Given the description of an element on the screen output the (x, y) to click on. 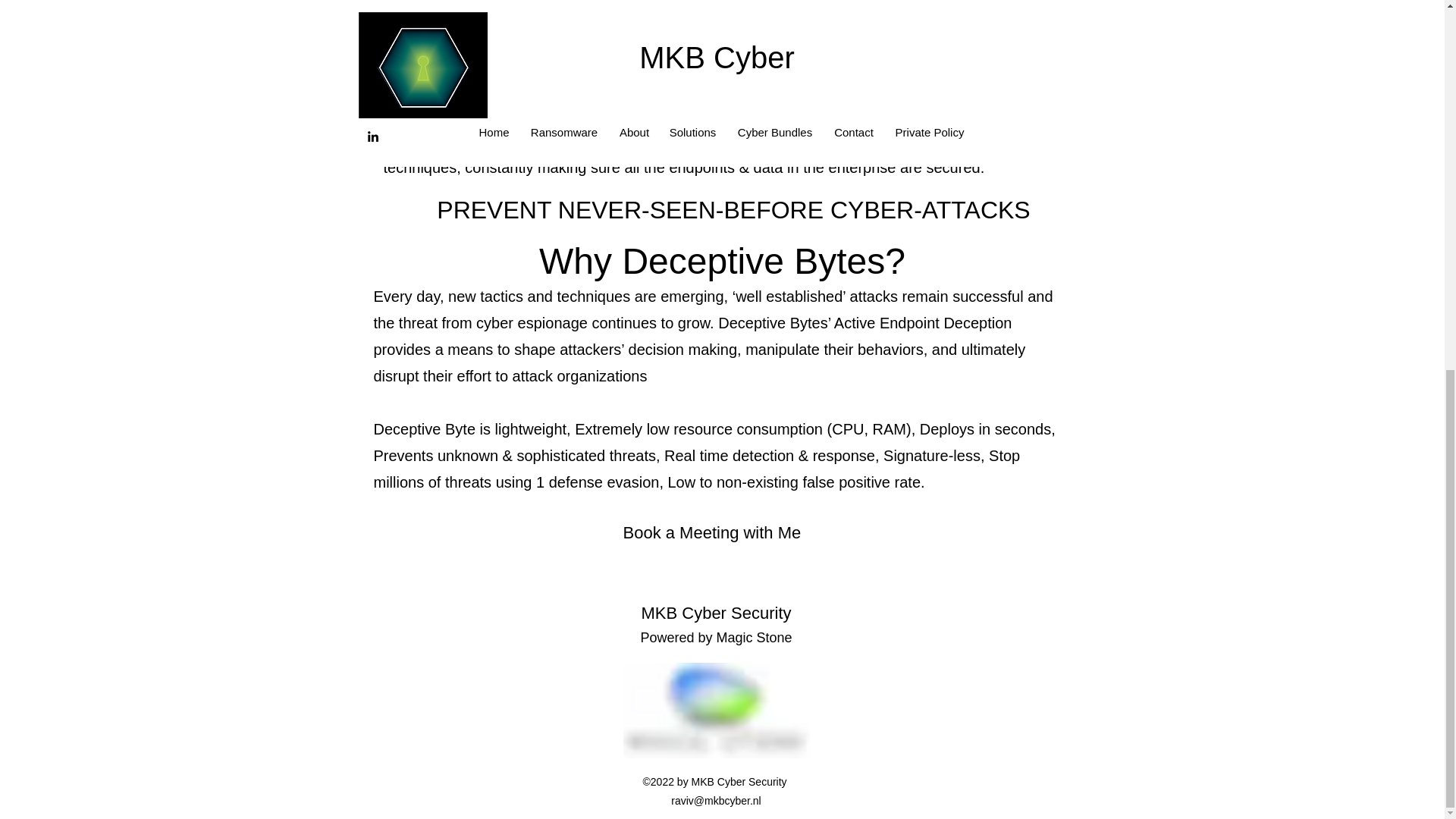
Book a Meeting with Me (712, 531)
Logo nagic stone.jpeg (716, 710)
